Given the description of an element on the screen output the (x, y) to click on. 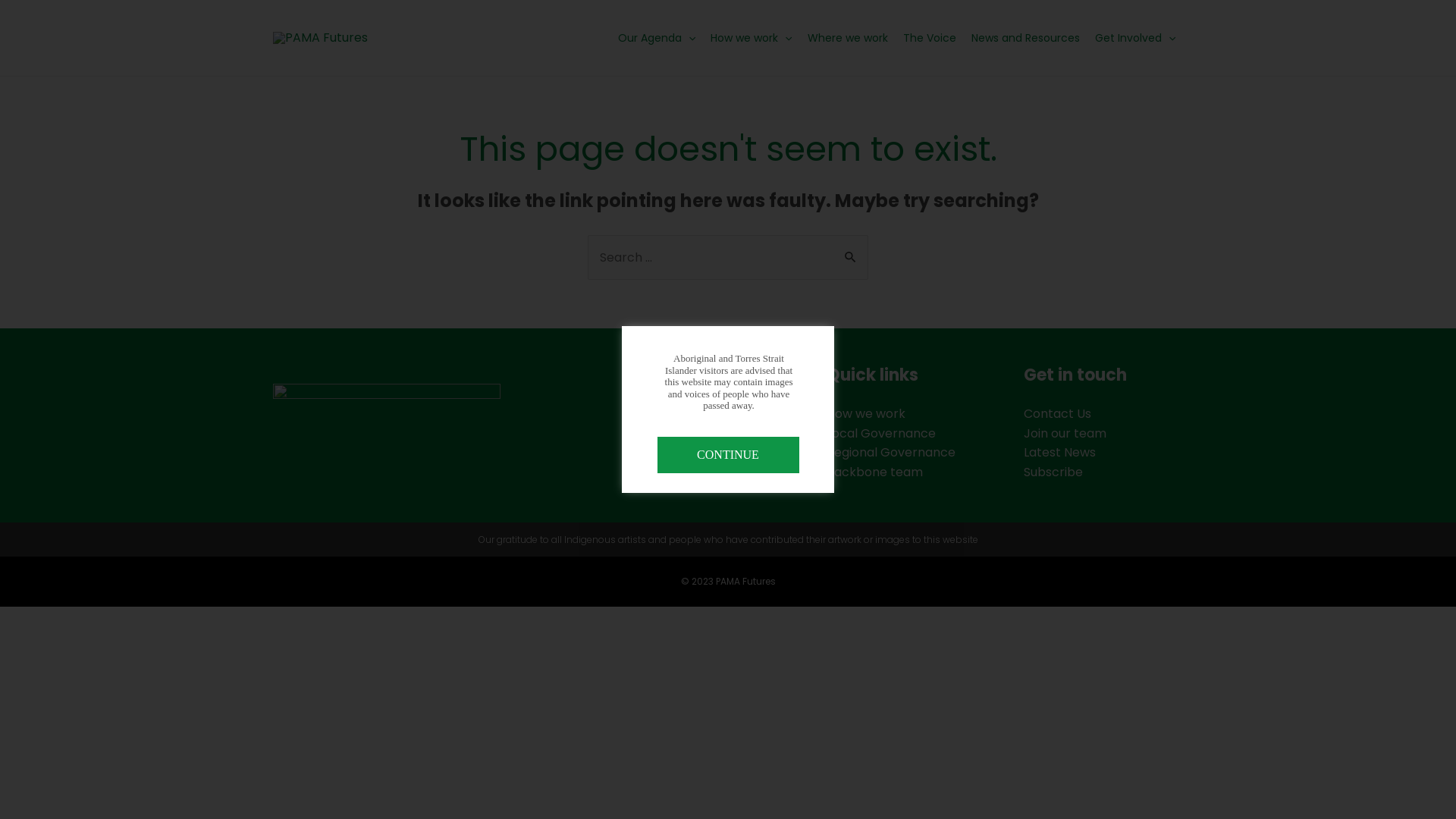
Join our team Element type: text (1064, 433)
Our Agenda Element type: text (664, 413)
Regional Governance Element type: text (890, 452)
How we work Element type: text (750, 37)
News and Resources Element type: text (1025, 37)
Get Involved Element type: text (1135, 37)
Our Agenda Element type: text (656, 37)
Our Journey Element type: text (665, 452)
National Agenda Element type: text (678, 433)
Where we work Element type: text (847, 37)
Search Element type: text (851, 250)
How we work Element type: text (865, 413)
Latest News Element type: text (1059, 452)
CONTINUE Element type: text (727, 454)
The Voice Element type: text (929, 37)
Local Governance Element type: text (880, 433)
Contact Us Element type: text (1057, 413)
18 Capabilities Element type: text (671, 471)
Backbone team Element type: text (874, 471)
Subscribe Element type: text (1052, 471)
